Given the description of an element on the screen output the (x, y) to click on. 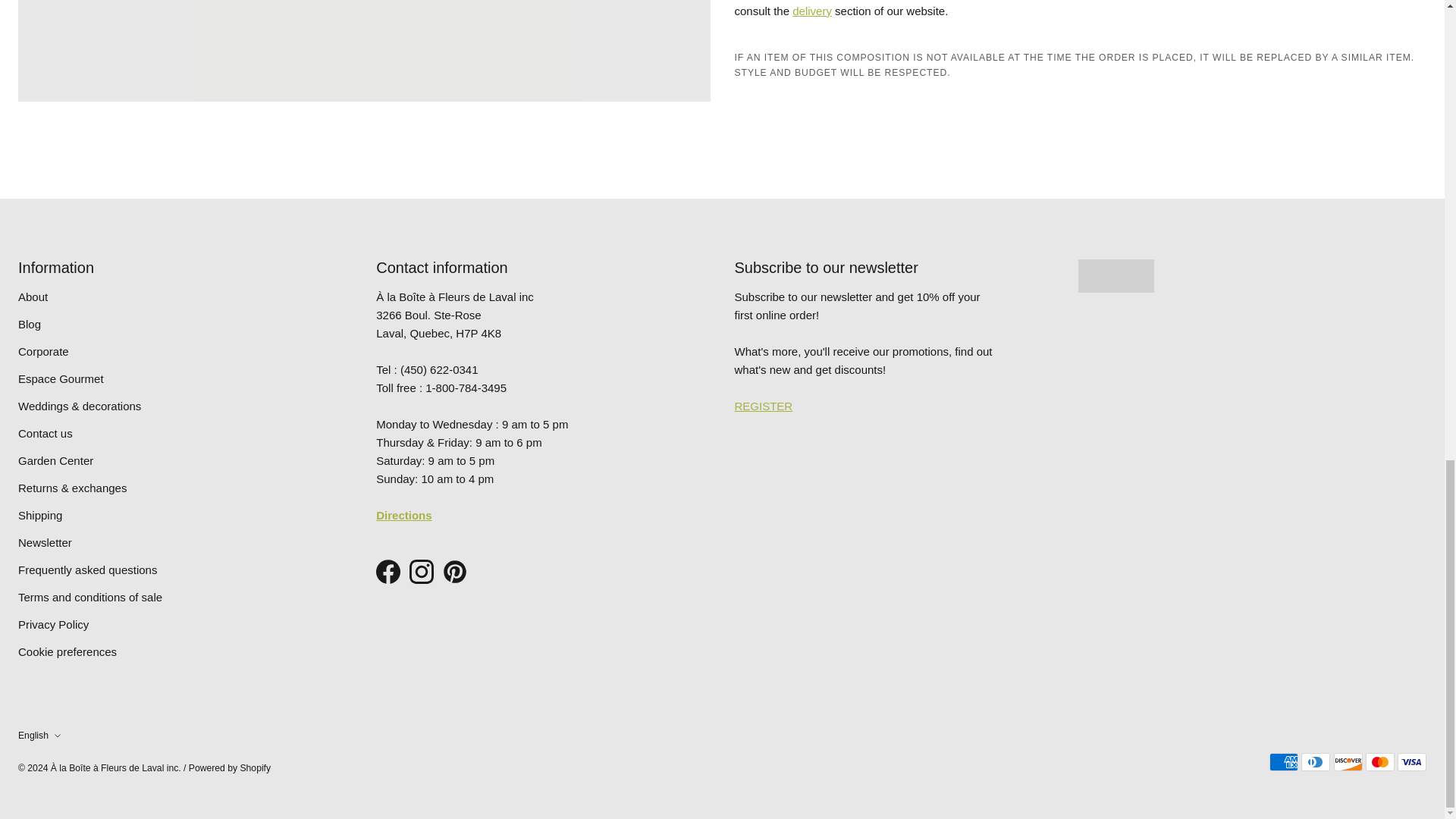
Visa (1411, 761)
Diners Club (1315, 761)
Mastercard (1379, 761)
American Express (1283, 761)
Discover (1347, 761)
